Given the description of an element on the screen output the (x, y) to click on. 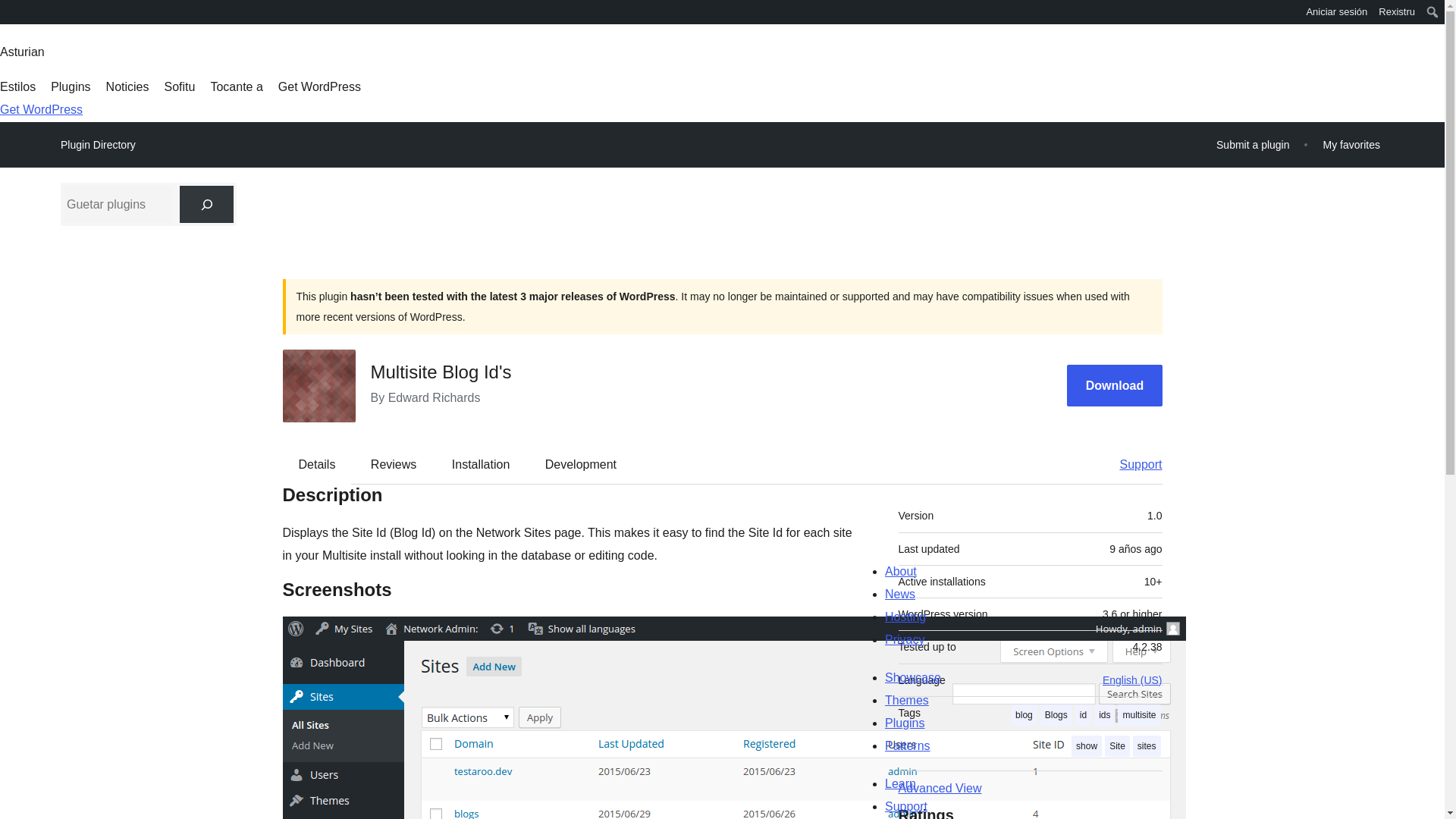
WordPress.org (10, 10)
Guetar (16, 13)
Tocante a (235, 87)
Plugin Directory (97, 144)
Sofitu (179, 87)
Support (1132, 464)
Development (580, 464)
Rexistru (1397, 12)
Download (1114, 385)
Reviews (392, 464)
Submit a plugin (1253, 144)
Get WordPress (41, 109)
Installation (480, 464)
Plugins (70, 87)
Get WordPress (319, 87)
